Given the description of an element on the screen output the (x, y) to click on. 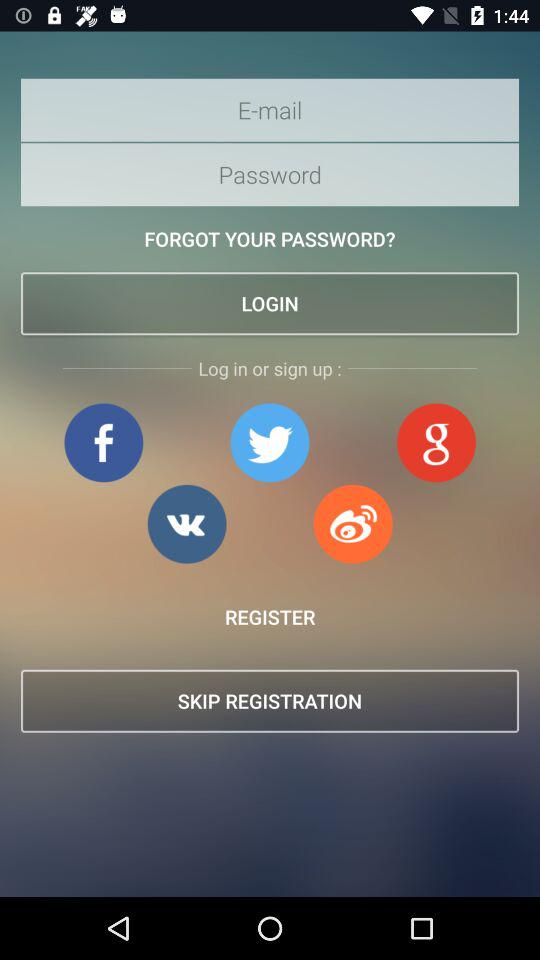
sign up with social media account (353, 523)
